Given the description of an element on the screen output the (x, y) to click on. 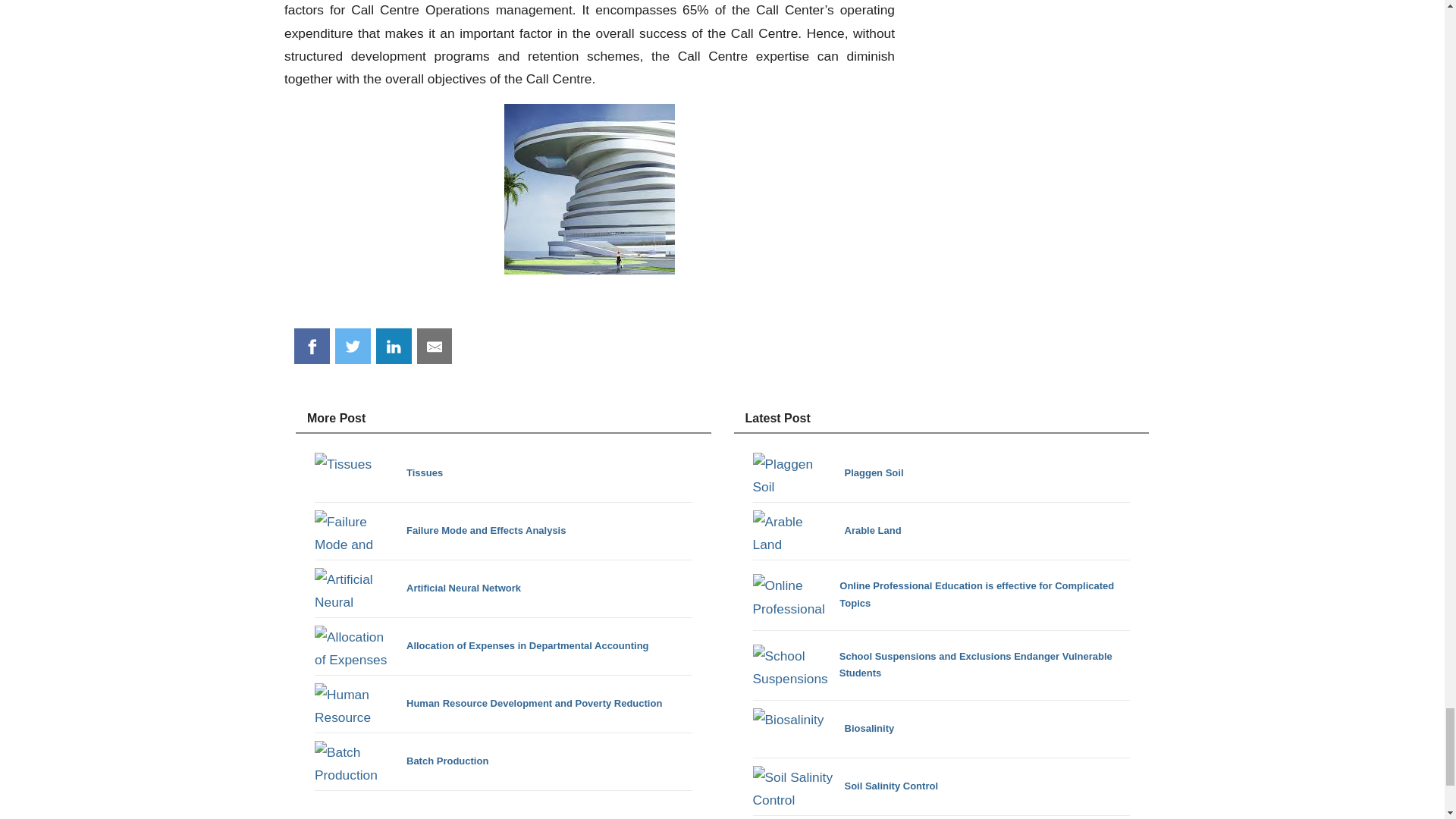
Arable Land (826, 531)
Soil Salinity Control (844, 786)
Plaggen Soil (827, 473)
Share on Email (434, 346)
Share on LinkedIn (393, 346)
Artificial Neural Network (417, 588)
Batch Production (400, 761)
Failure Mode and Effects Analysis (440, 531)
Allocation of Expenses in Departmental Accounting (481, 646)
Tweet this ! (352, 346)
Biosalinity (822, 729)
Human Resource Development and Poverty Reduction (488, 703)
Tissues (378, 473)
